Given the description of an element on the screen output the (x, y) to click on. 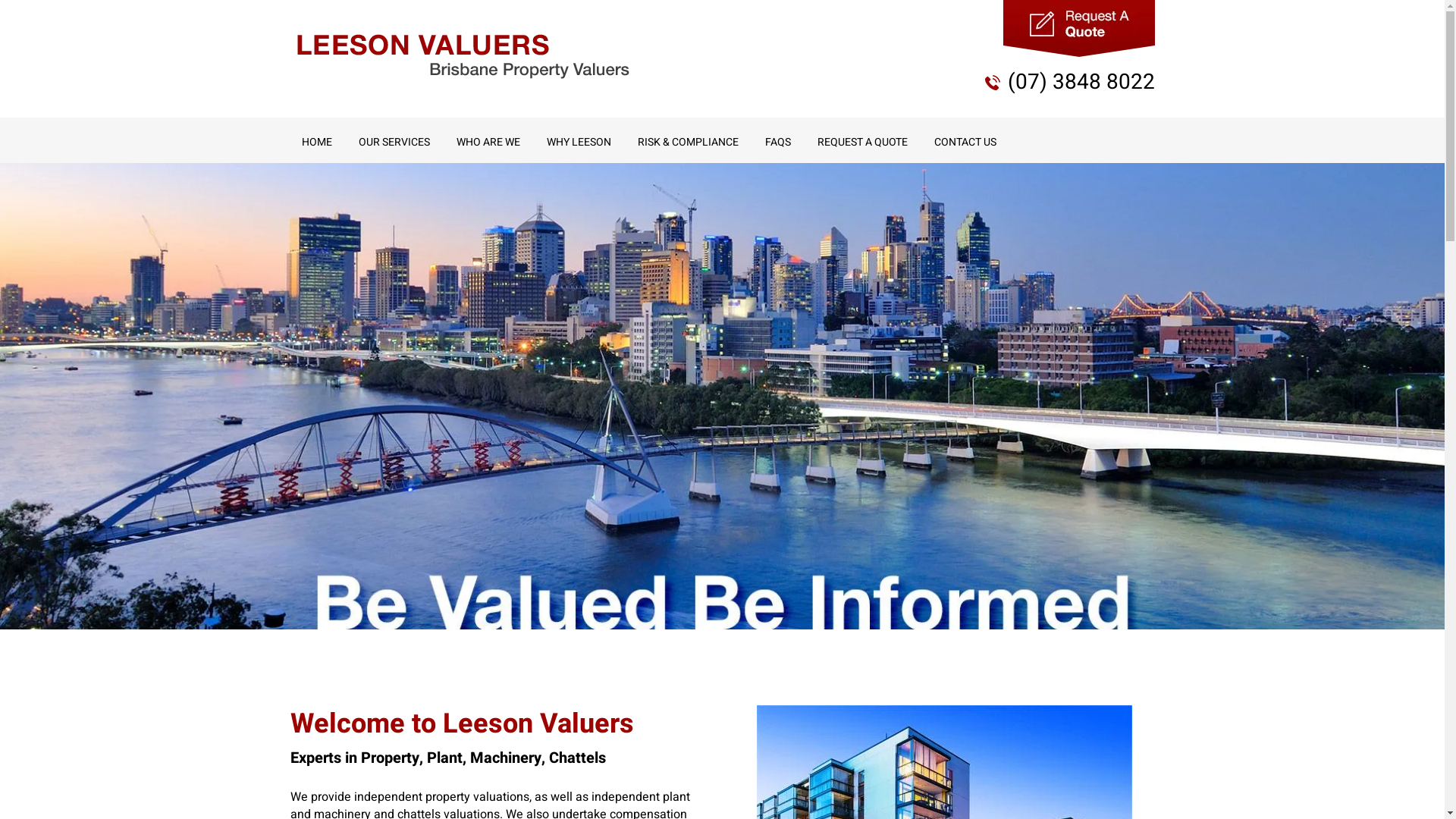
WHY LEESON Element type: text (578, 141)
HOME Element type: text (315, 141)
Leeson & Co Pty Ltd Trading As Leeson Valuers Element type: hover (463, 56)
WHO ARE WE Element type: text (487, 141)
CONTACT US Element type: text (964, 141)
REQUEST A QUOTE Element type: text (861, 141)
OUR SERVICES Element type: text (394, 141)
FAQS Element type: text (777, 141)
(07) 3848 8022 Element type: text (1080, 81)
Leeson & Co Pty Ltd Trading As Leeson Valuers Element type: hover (463, 56)
RISK & COMPLIANCE Element type: text (687, 141)
